Given the description of an element on the screen output the (x, y) to click on. 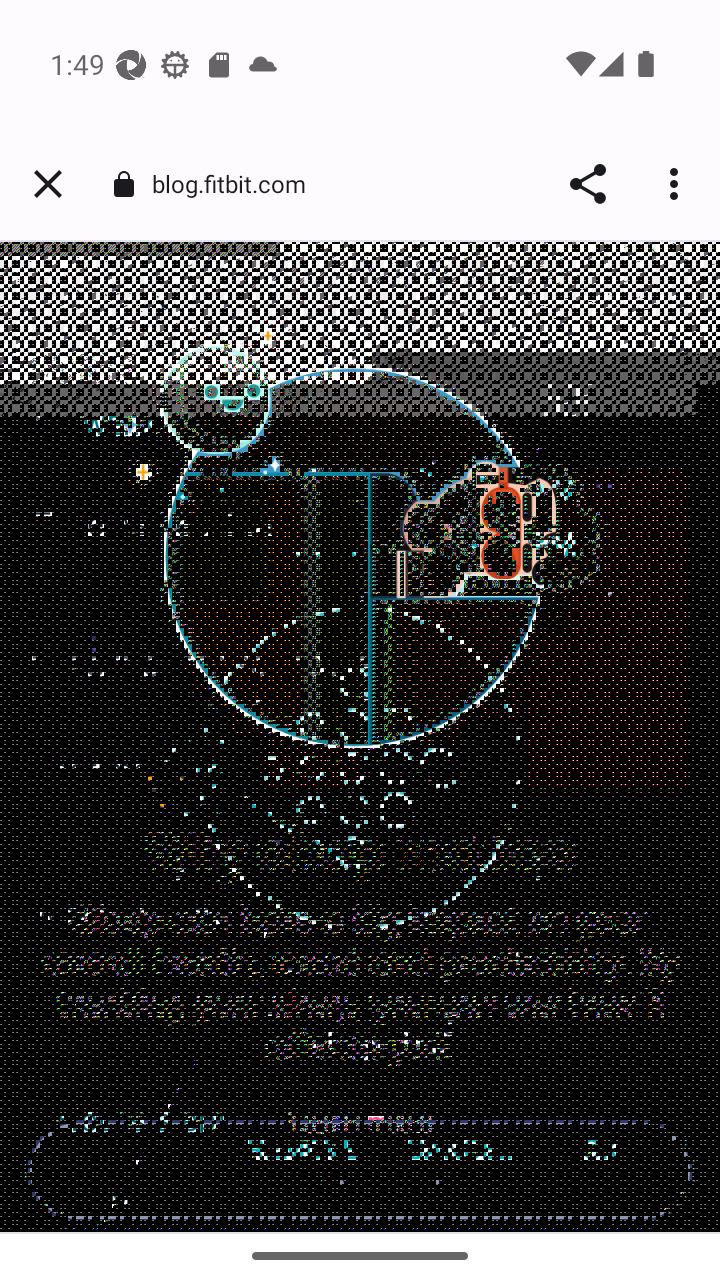
Close tab (47, 184)
Share (587, 184)
More options (677, 184)
Connection is secure (123, 183)
blog.fitbit.com (236, 182)
